Given the description of an element on the screen output the (x, y) to click on. 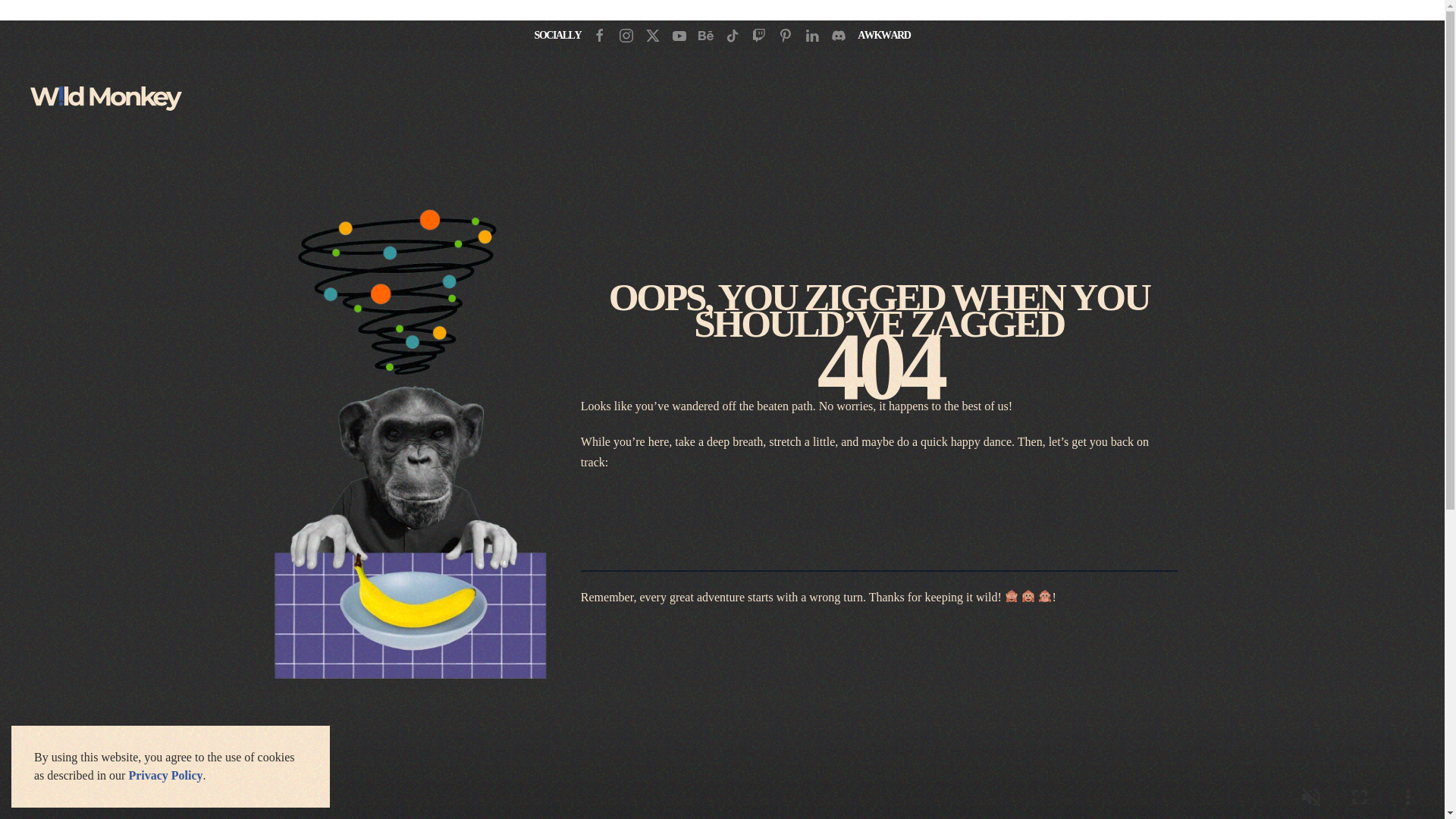
CONTACT US (989, 505)
HOME (748, 505)
SERVICES (859, 505)
